Given the description of an element on the screen output the (x, y) to click on. 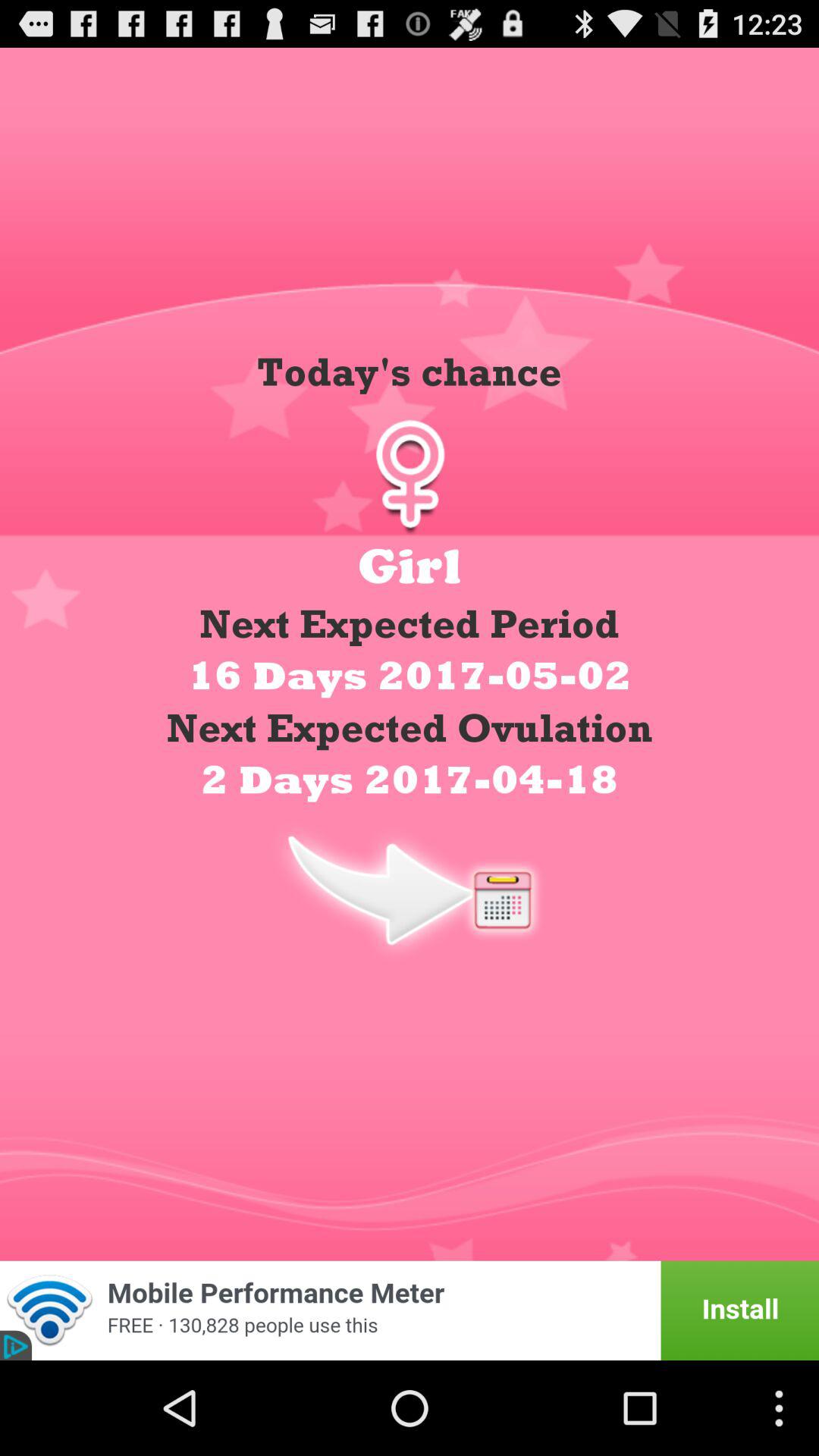
go to calendar (409, 889)
